Given the description of an element on the screen output the (x, y) to click on. 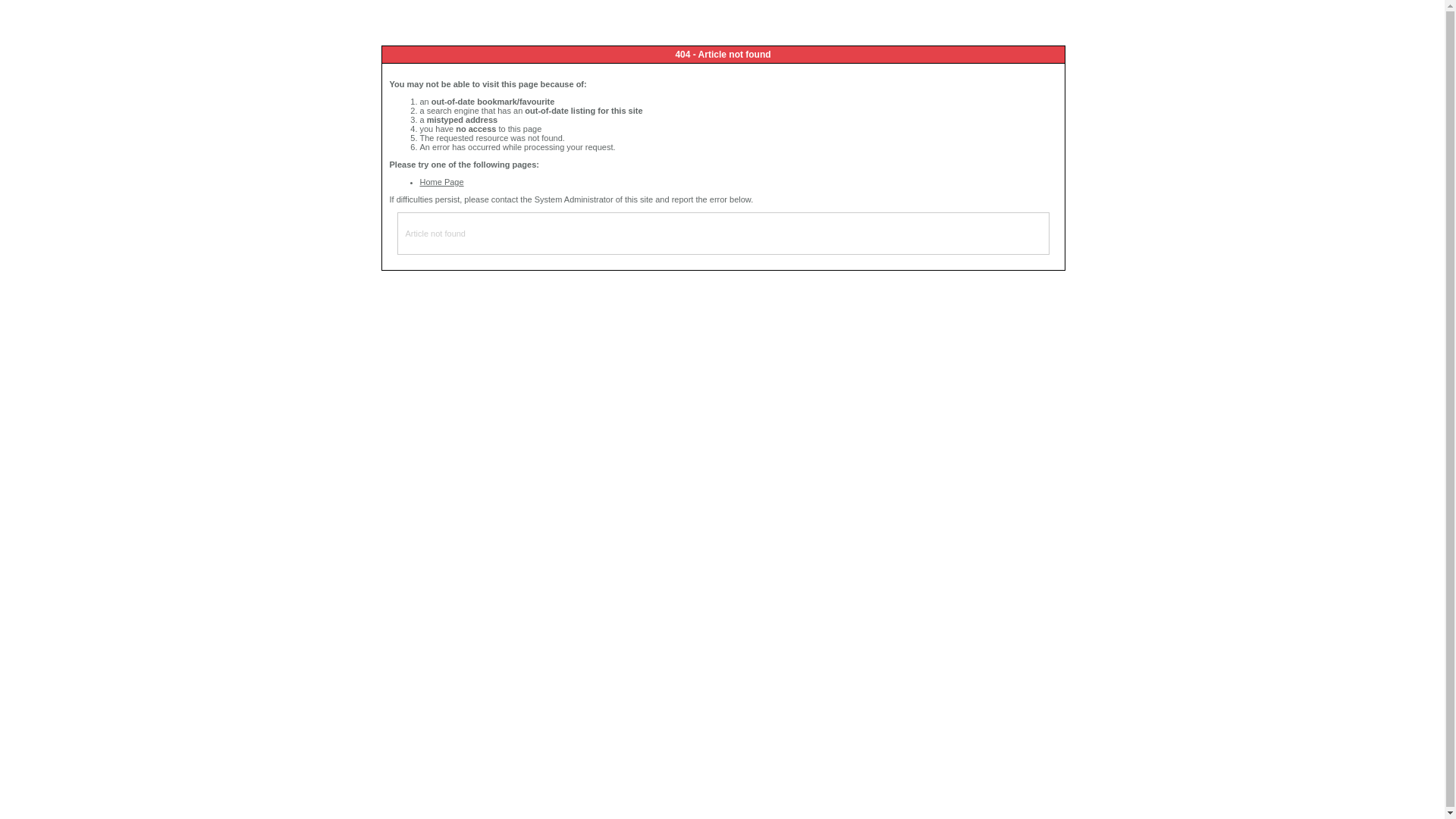
Home Page Element type: text (442, 181)
